Given the description of an element on the screen output the (x, y) to click on. 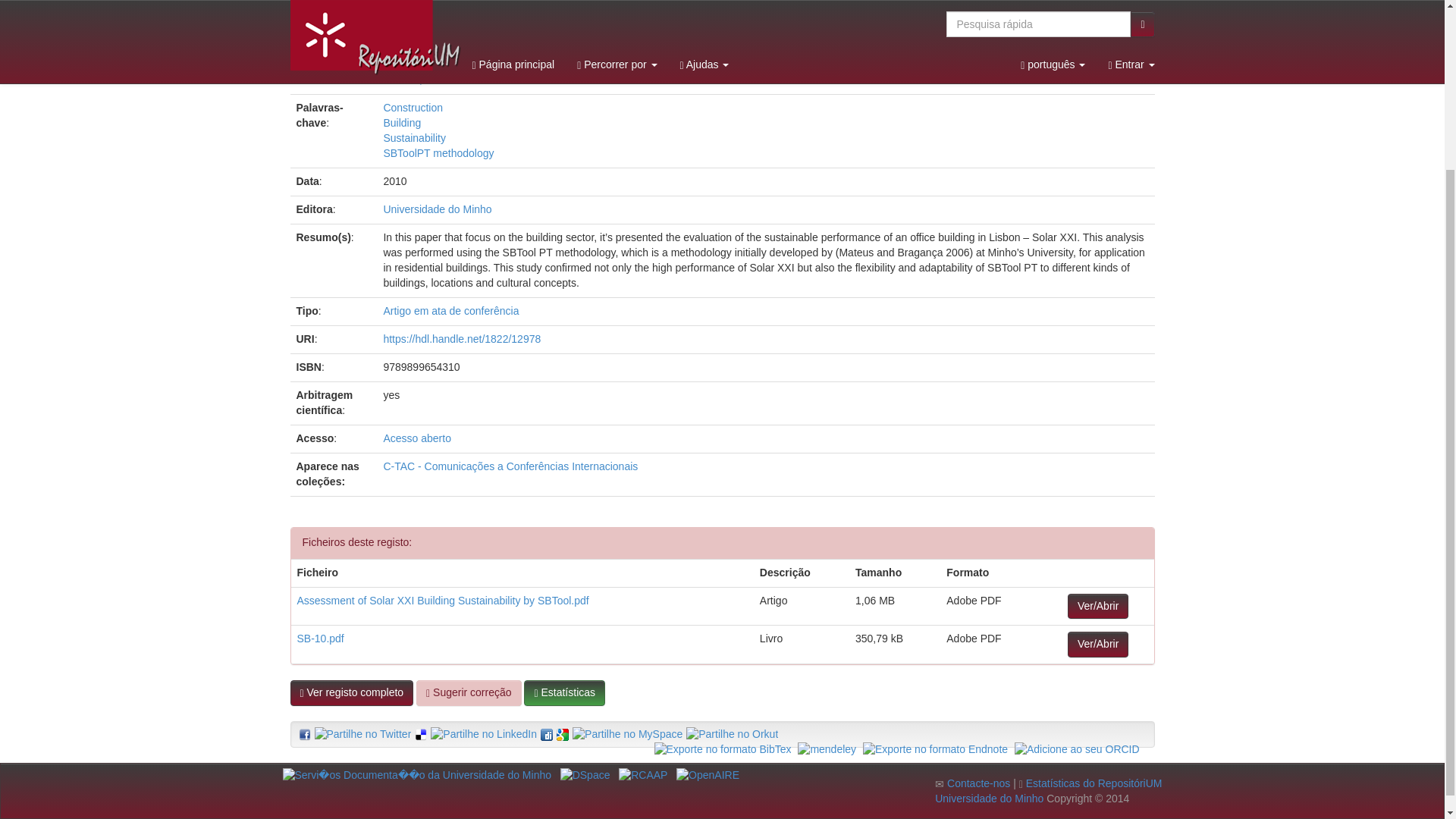
Exporte no formato Endnote (935, 749)
Partilhe no MySpace (627, 734)
mendeley (826, 749)
Partilhe no LinkedIn (483, 734)
Andrade, Joana B. (426, 49)
Partilhe no Digg (546, 734)
Partilhe no Twitter (362, 734)
Partilhe no Facebook (304, 734)
Partilhe no Delicious (420, 734)
ORCID  (1077, 749)
Adicionar ao Google Bookmarks (562, 734)
Exporte no formato BibTex (721, 749)
Partilhe no Orkut (731, 734)
